Given the description of an element on the screen output the (x, y) to click on. 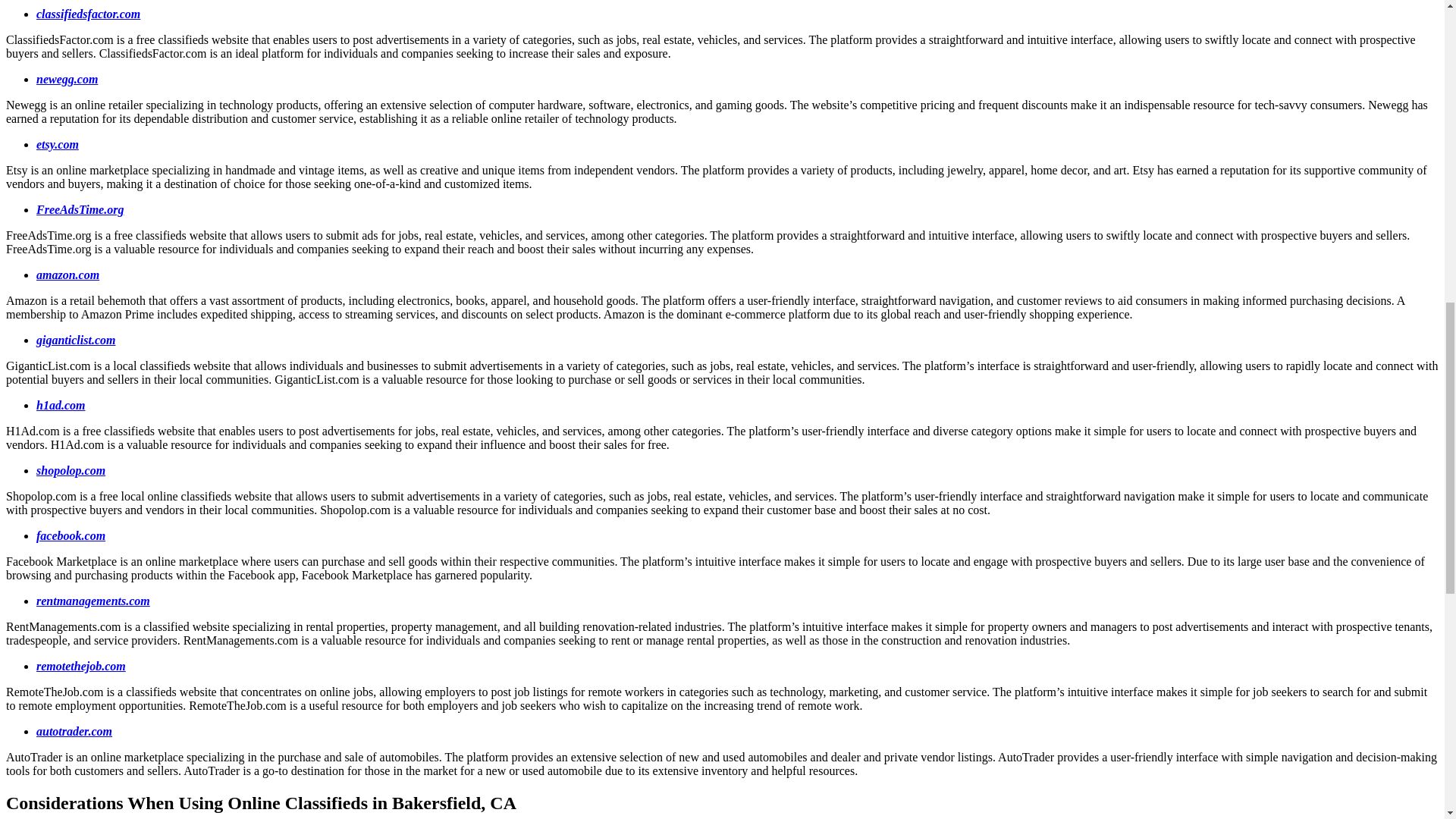
giganticlist.com (75, 339)
remotethejob.com (80, 666)
newegg.com (66, 78)
autotrader.com (74, 730)
etsy.com (57, 144)
FreeAdsTime.org (79, 209)
amazon.com (67, 274)
classifiedsfactor.com (87, 13)
h1ad.com (60, 404)
facebook.com (70, 535)
shopolop.com (70, 470)
rentmanagements.com (92, 600)
